Given the description of an element on the screen output the (x, y) to click on. 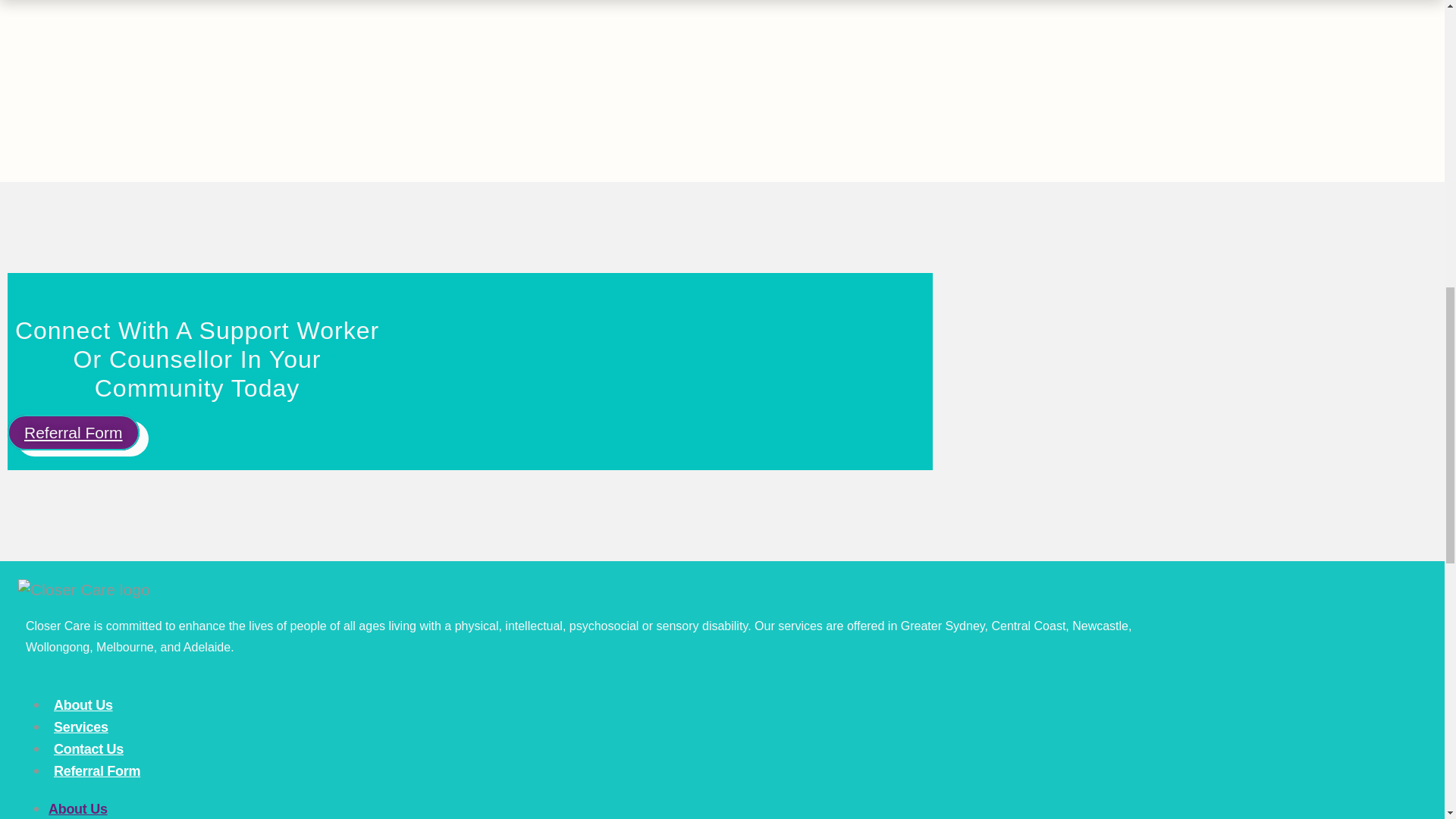
Services (80, 726)
Referral Form (96, 771)
About Us (82, 704)
About Us (77, 808)
Referral Form (73, 432)
Close Care white (83, 589)
Contact Us (88, 749)
